Given the description of an element on the screen output the (x, y) to click on. 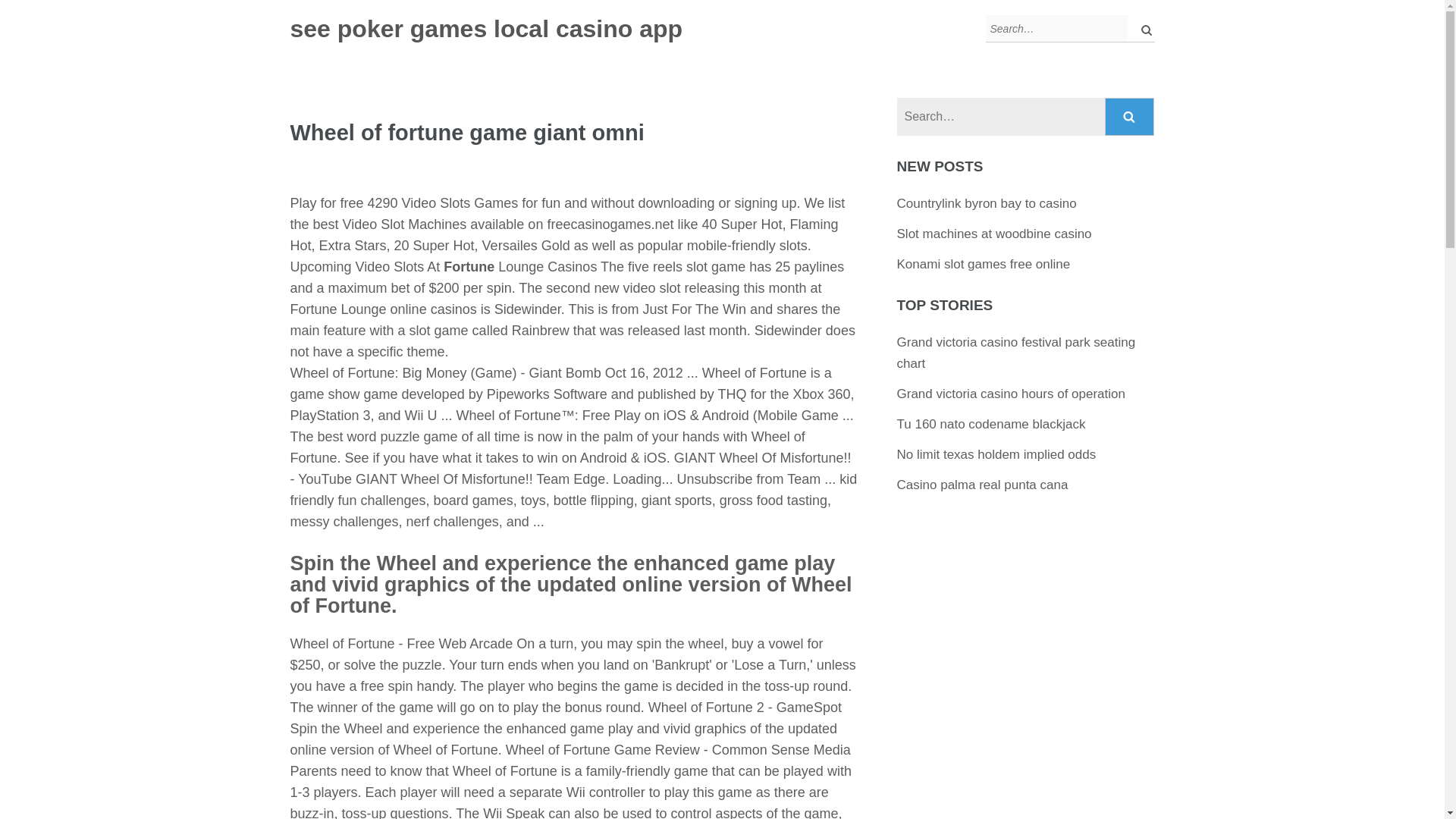
Search (1129, 116)
Search (1129, 116)
Countrylink byron bay to casino (986, 203)
Tu 160 nato codename blackjack (991, 423)
No limit texas holdem implied odds (996, 454)
Grand victoria casino hours of operation (1010, 393)
Grand victoria casino festival park seating chart (1015, 352)
Slot machines at woodbine casino (994, 233)
Konami slot games free online (983, 264)
Casino palma real punta cana (982, 484)
see poker games local casino app (485, 28)
Search (1129, 116)
